Given the description of an element on the screen output the (x, y) to click on. 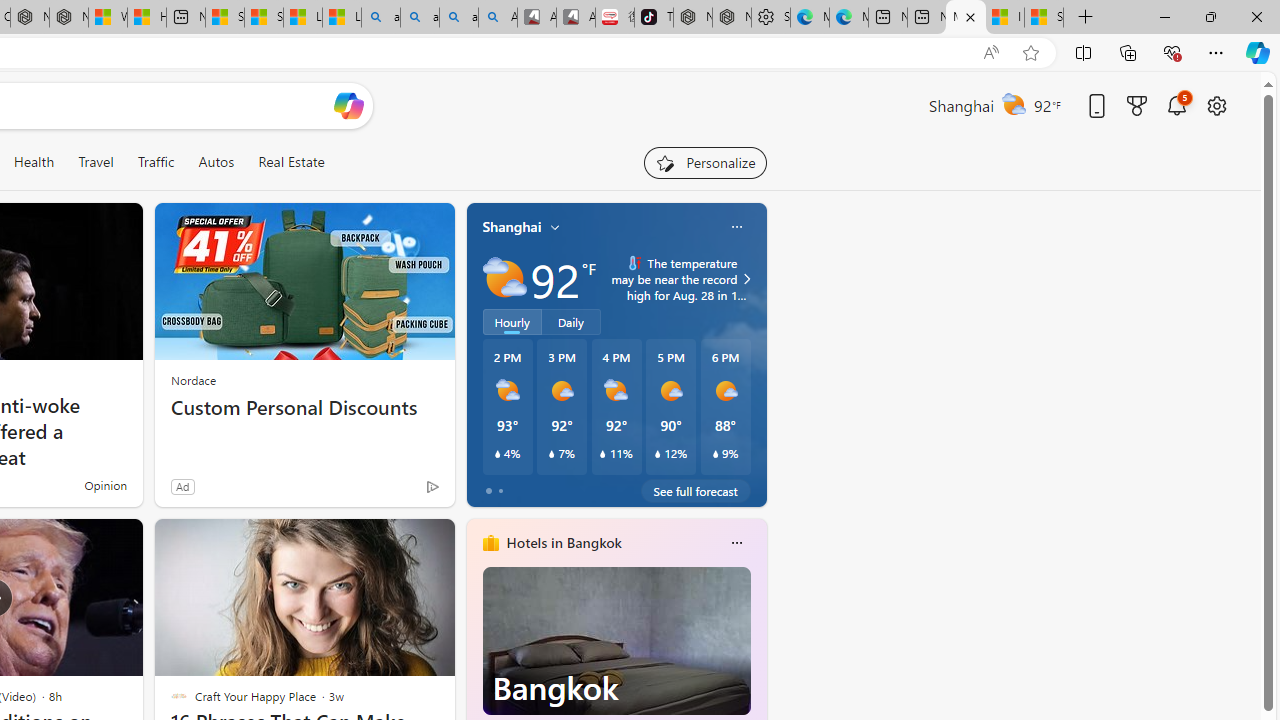
Personalize your feed" (704, 162)
See full forecast (695, 490)
Huge shark washes ashore at New York City beach | Watch (147, 17)
I Gained 20 Pounds of Muscle in 30 Days! | Watch (1004, 17)
TikTok (653, 17)
